Given the description of an element on the screen output the (x, y) to click on. 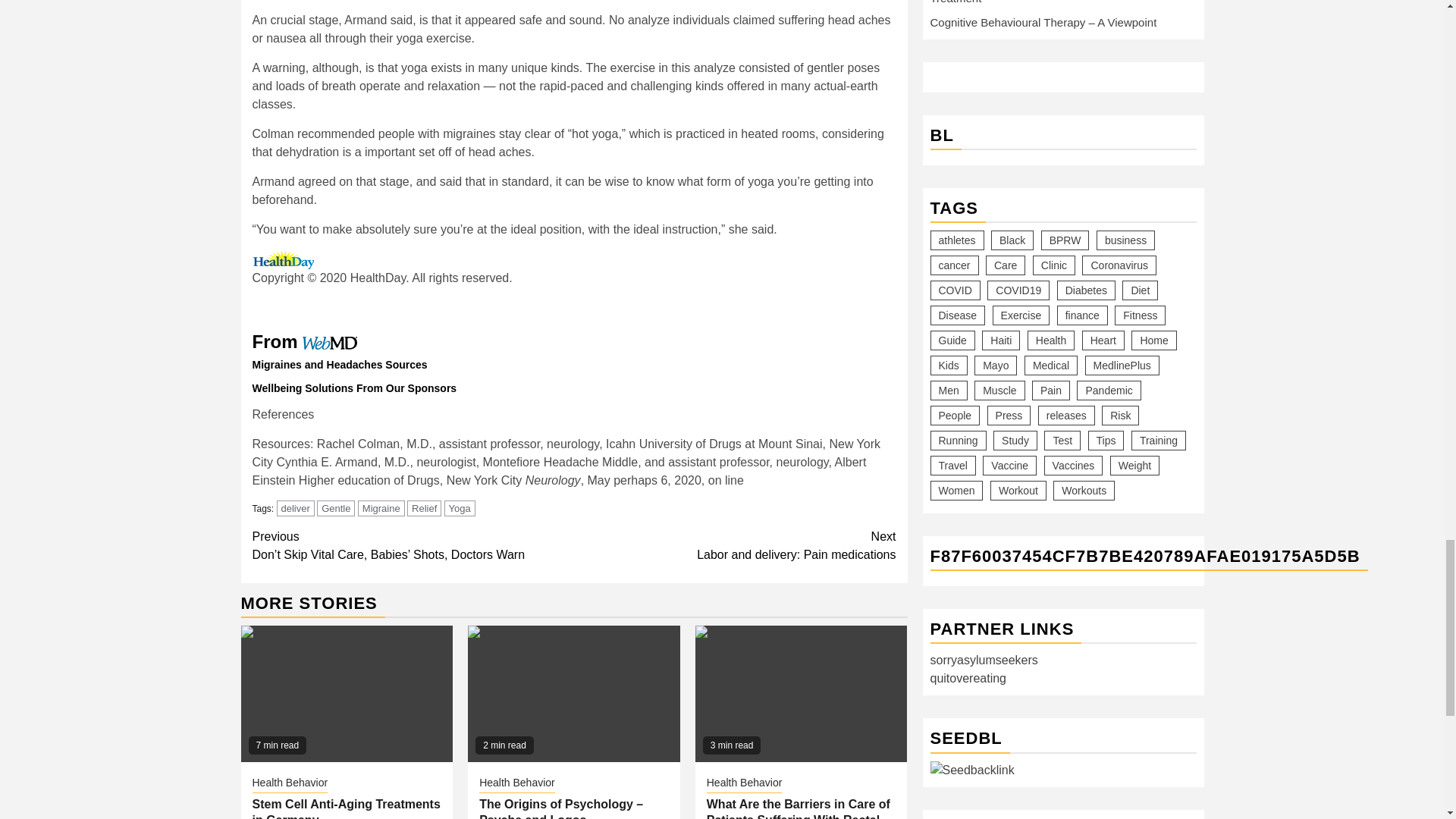
deliver (734, 545)
Relief (295, 508)
Migraine (424, 508)
Gentle (381, 508)
Yoga (336, 508)
Health Behavior (460, 508)
Stem Cell Anti-Aging Treatments in Germany (289, 783)
